Given the description of an element on the screen output the (x, y) to click on. 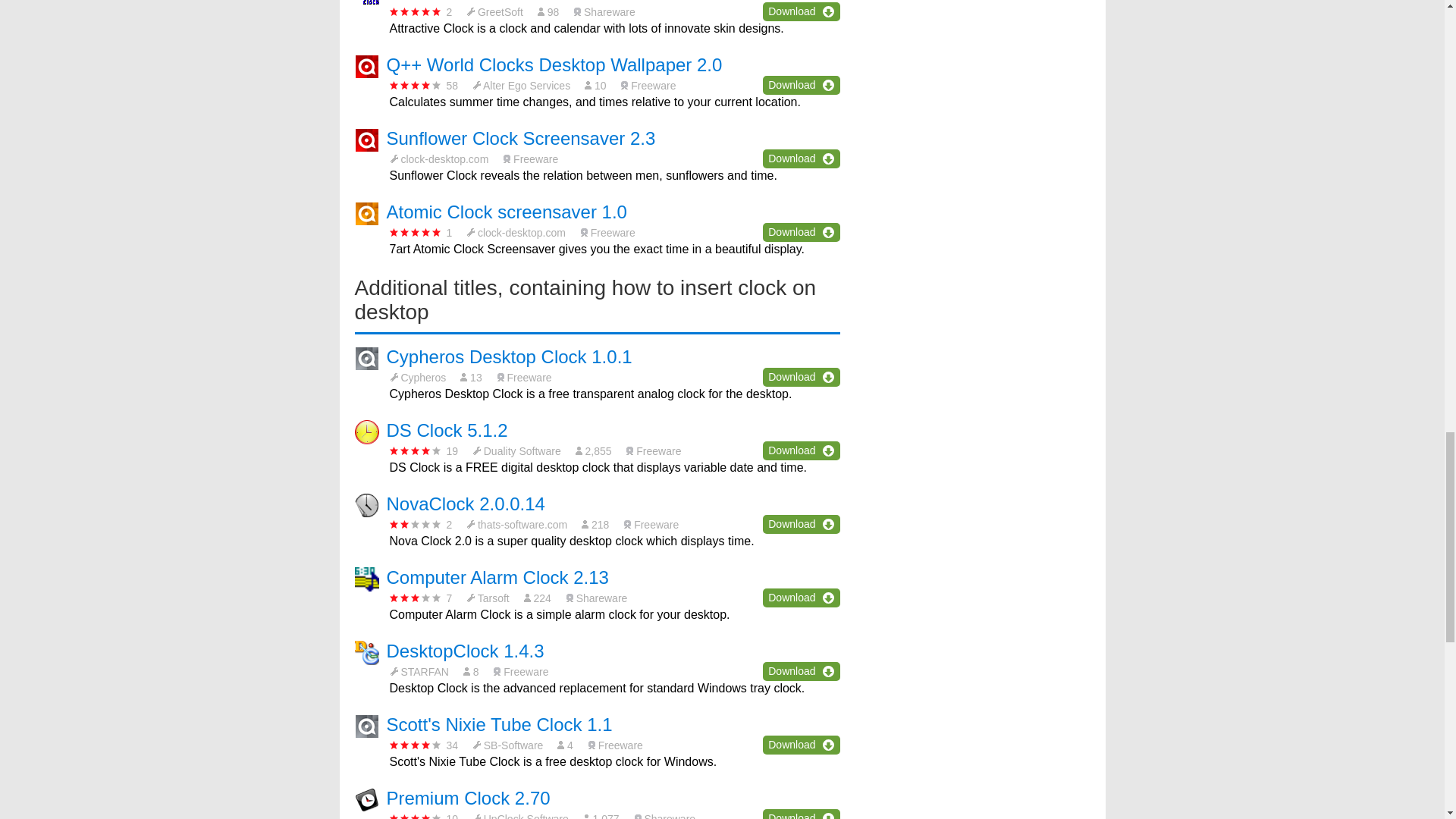
Sunflower Clock Screensaver 2.3 (521, 137)
Download (801, 85)
Download (801, 158)
Download (801, 231)
Atomic Clock screensaver 1.0 (507, 211)
Download (801, 11)
